Given the description of an element on the screen output the (x, y) to click on. 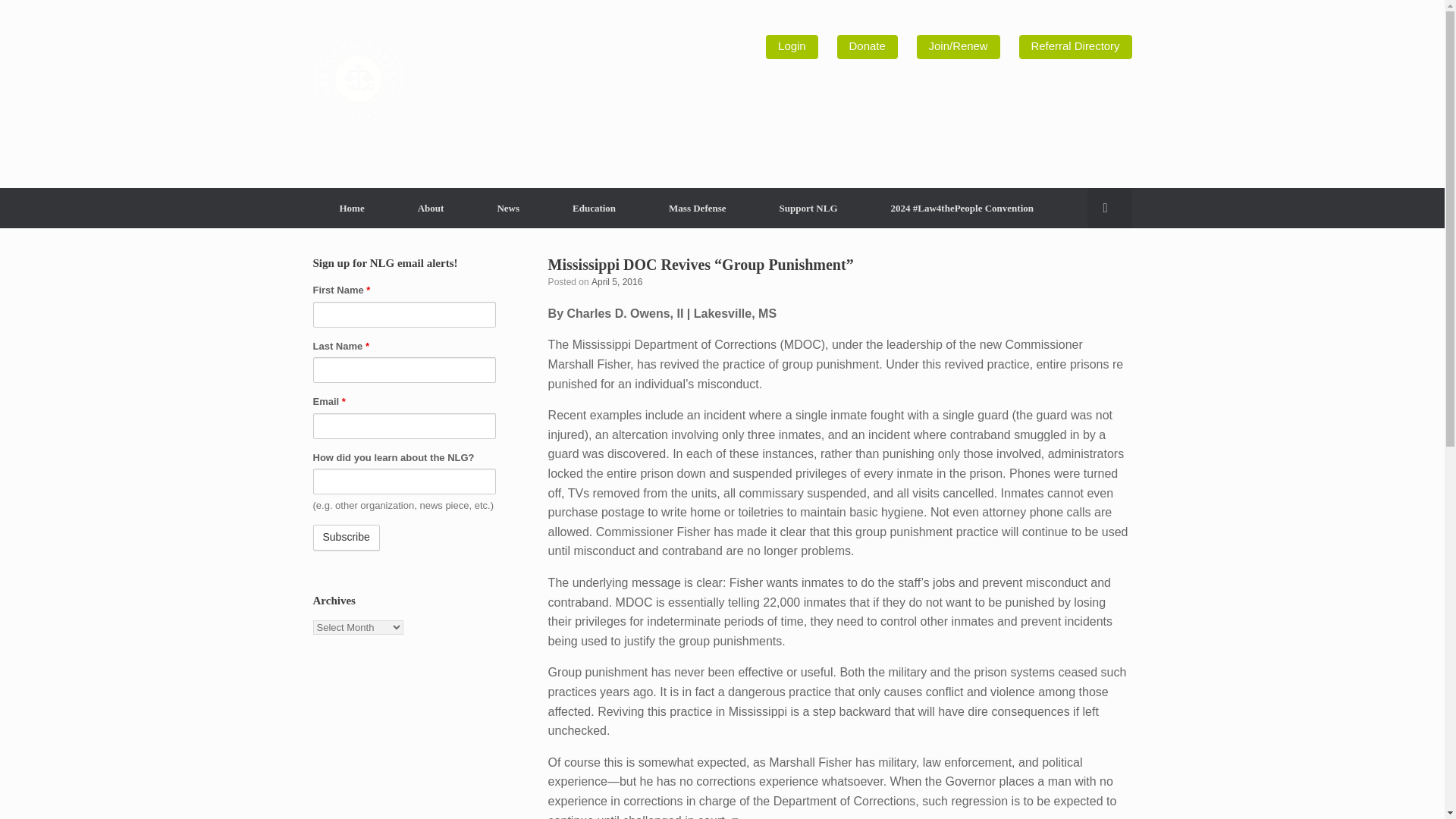
Home (351, 208)
Referral Directory (1075, 46)
National Lawyers Guild (358, 79)
Education (594, 208)
Donate (867, 46)
Subscribe (345, 537)
Login (790, 46)
About (430, 208)
1:56 pm (616, 281)
News (508, 208)
